Given the description of an element on the screen output the (x, y) to click on. 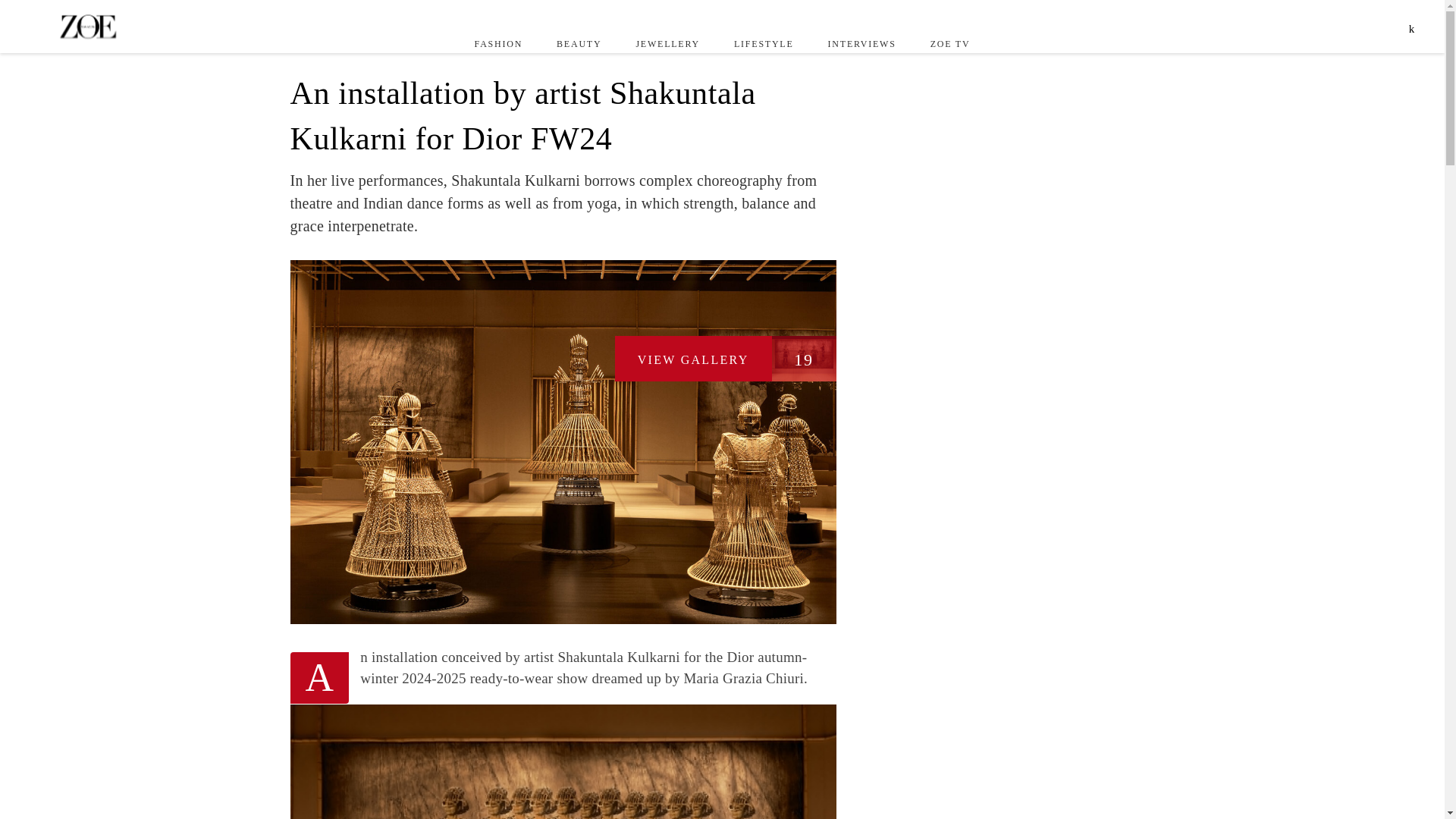
ZOE TV (949, 43)
BEAUTY (578, 43)
FASHION (498, 43)
INTERVIEWS (861, 43)
LIFESTYLE (763, 43)
JEWELLERY (667, 43)
